Given the description of an element on the screen output the (x, y) to click on. 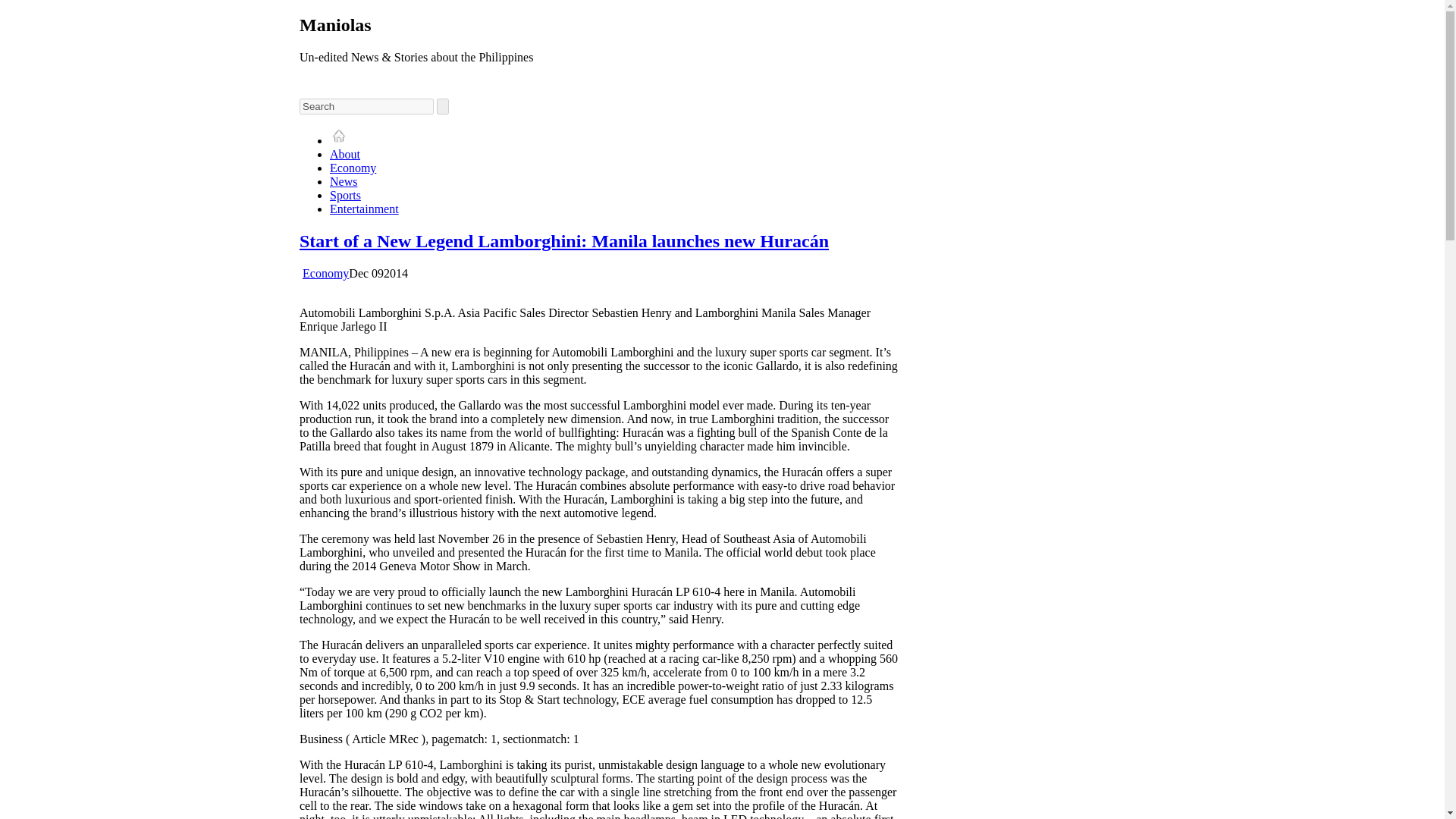
Maniolas (335, 25)
Sports (345, 195)
Search (366, 106)
Entertainment (364, 208)
About (344, 154)
Economy (325, 273)
Economy (352, 167)
Search (366, 106)
News (343, 181)
